Given the description of an element on the screen output the (x, y) to click on. 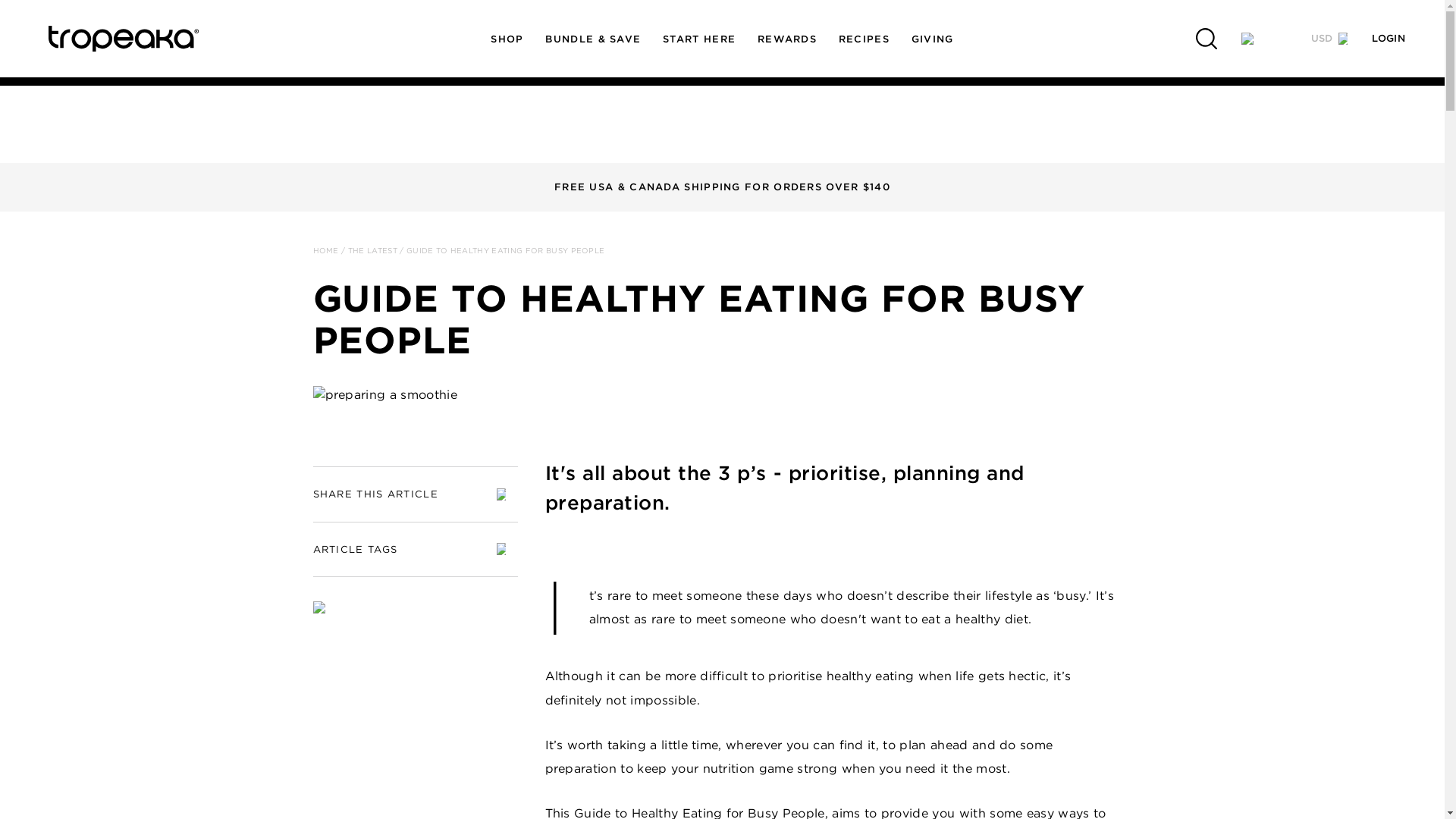
START HERE (699, 38)
Home (151, 38)
RECIPES (863, 38)
USD (1328, 38)
LOGIN (1387, 38)
REWARDS (787, 38)
